Given the description of an element on the screen output the (x, y) to click on. 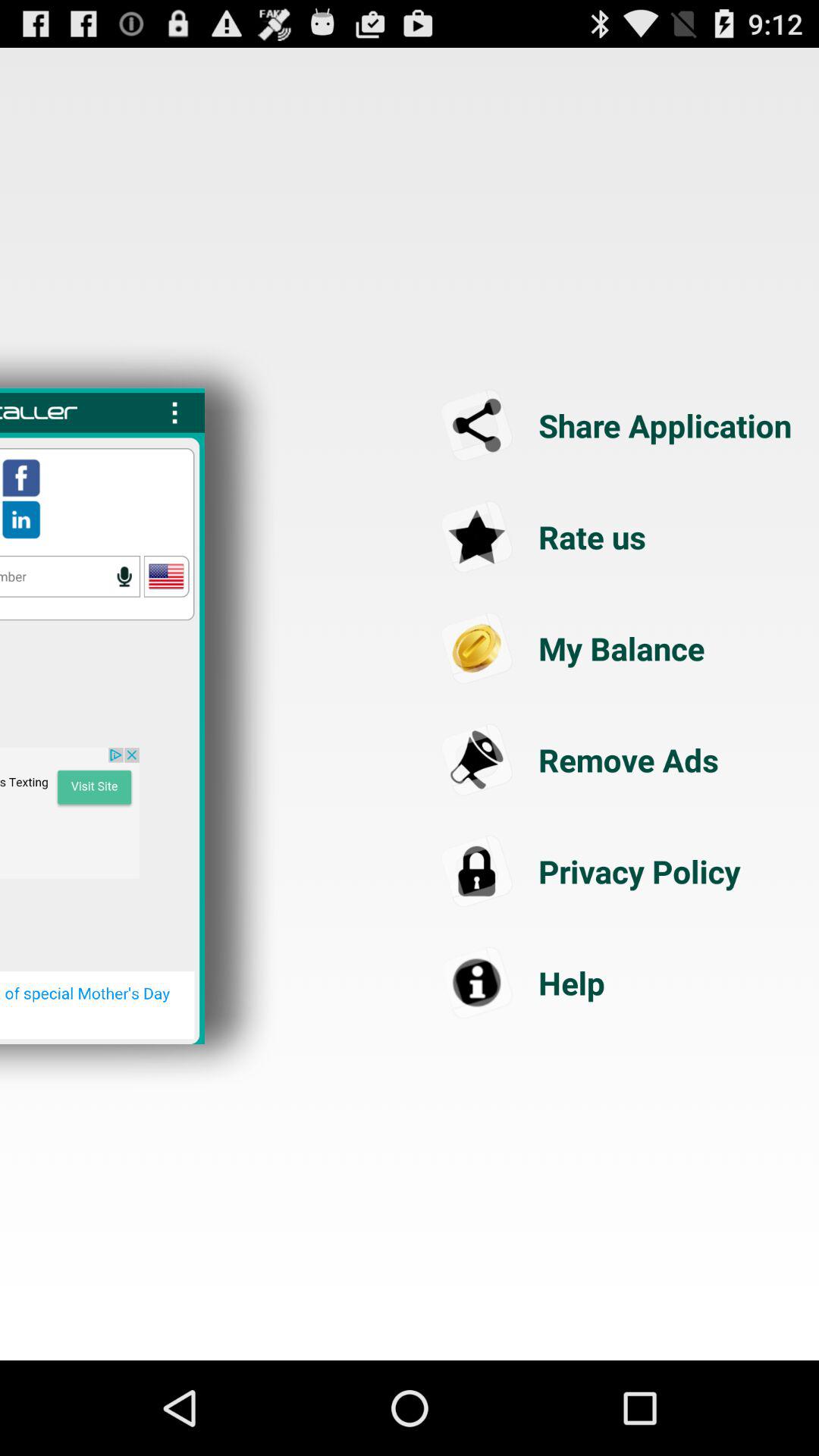
change language (166, 576)
